Given the description of an element on the screen output the (x, y) to click on. 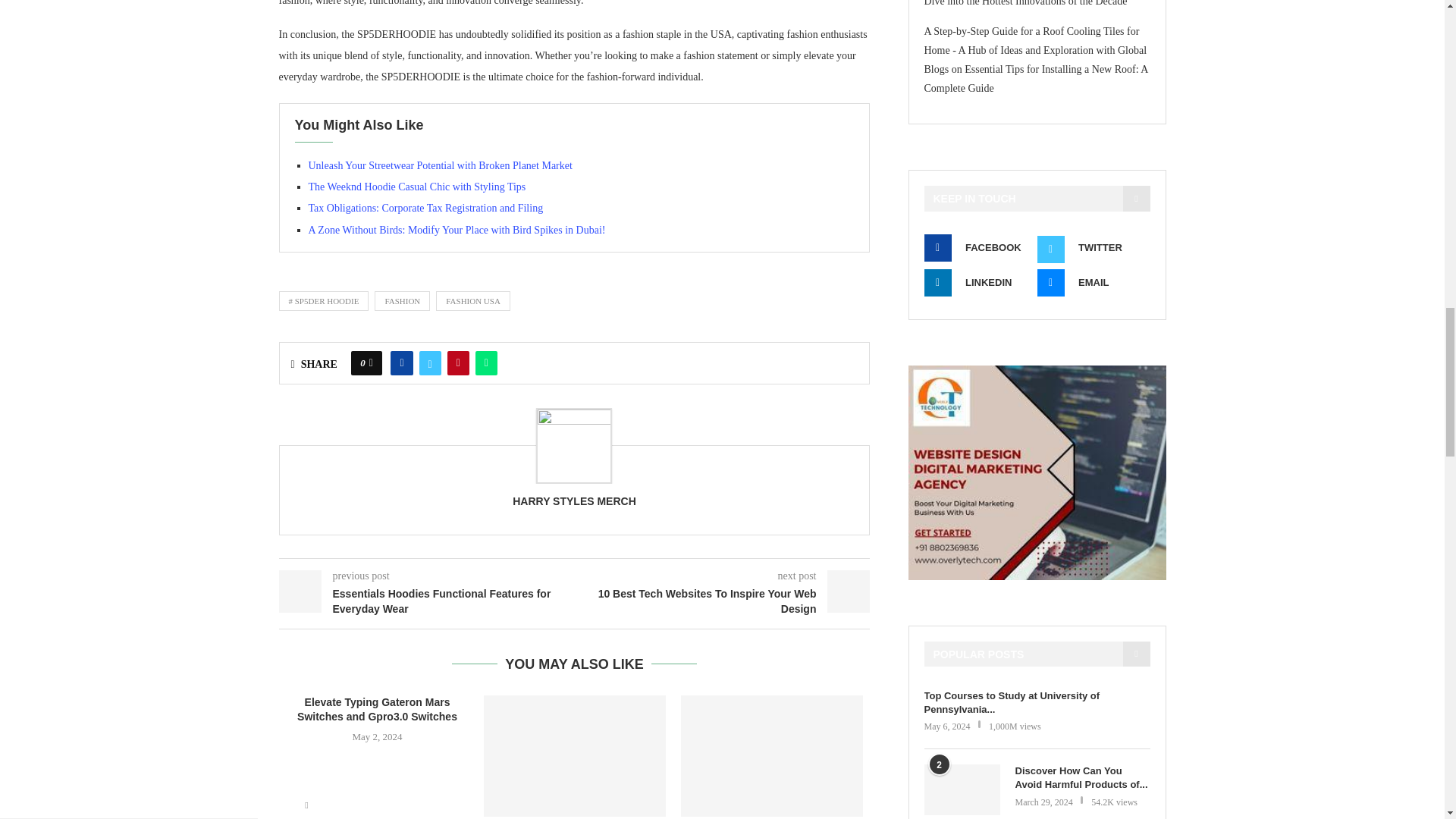
Discover How Can You Avoid Harmful Products of USA (960, 789)
Top Courses to Study at University of Pennsylvania in 2024 (1036, 702)
Author Harry Styles Merch (574, 500)
